Given the description of an element on the screen output the (x, y) to click on. 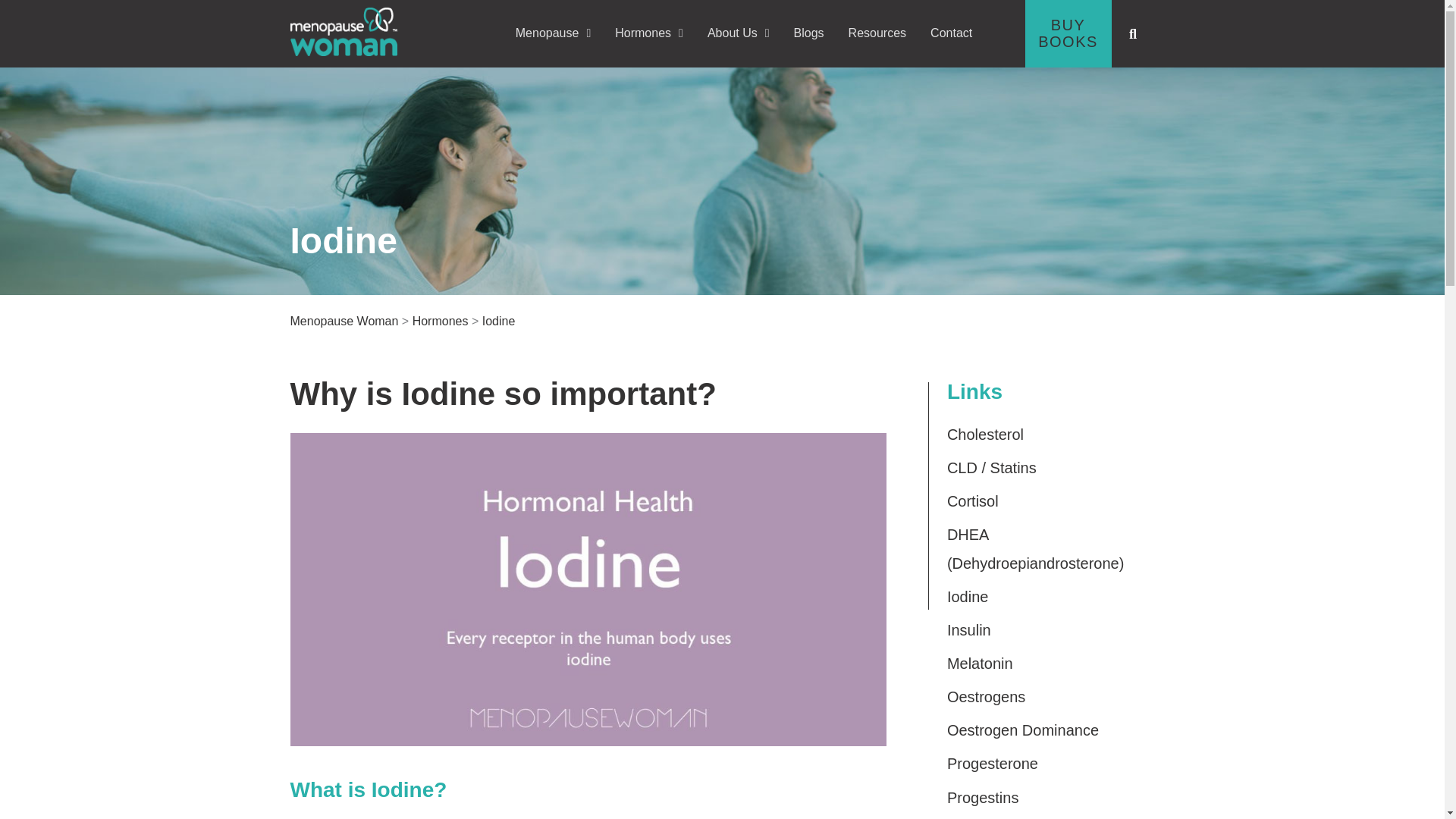
Hormones (648, 32)
Go to Hormones. (440, 320)
Go to Menopause Woman. (343, 320)
About Us (738, 32)
Menopause (553, 32)
